Given the description of an element on the screen output the (x, y) to click on. 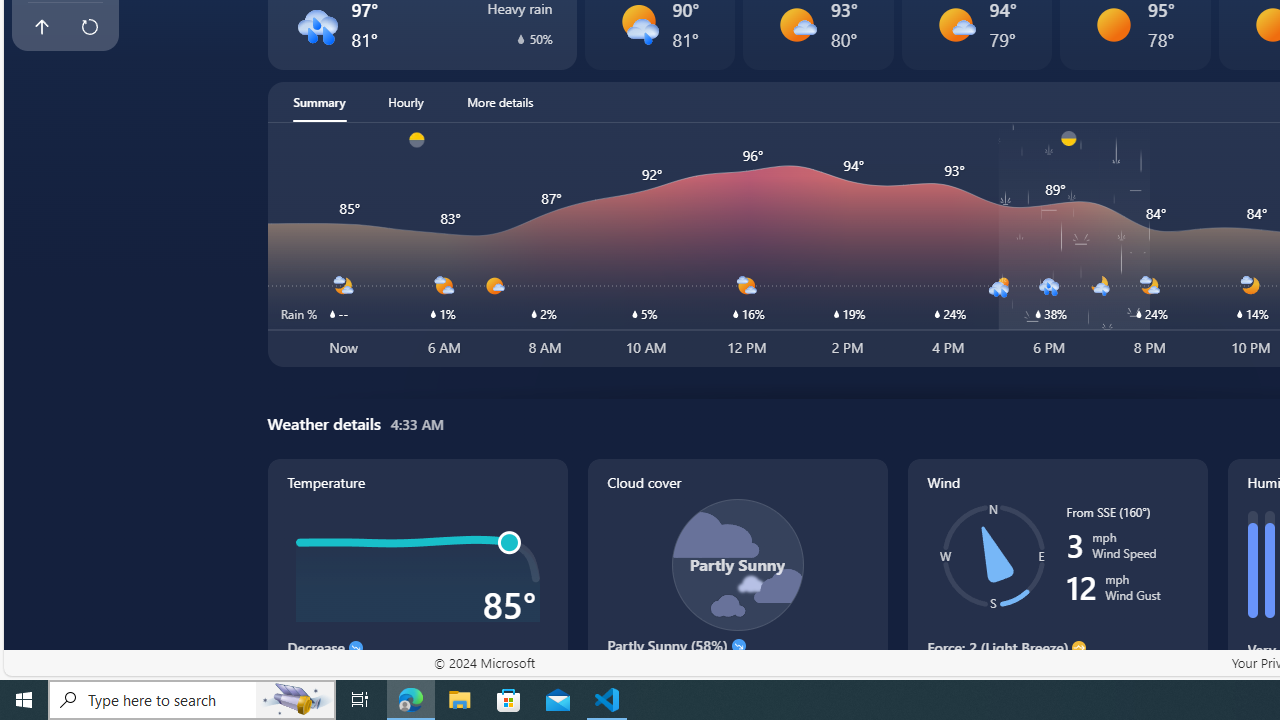
Class: cloudCoverSvg-DS-ps0R9q (736, 564)
Sunny (1114, 24)
Precipitation (520, 38)
More details (500, 101)
Temperature (417, 584)
